Given the description of an element on the screen output the (x, y) to click on. 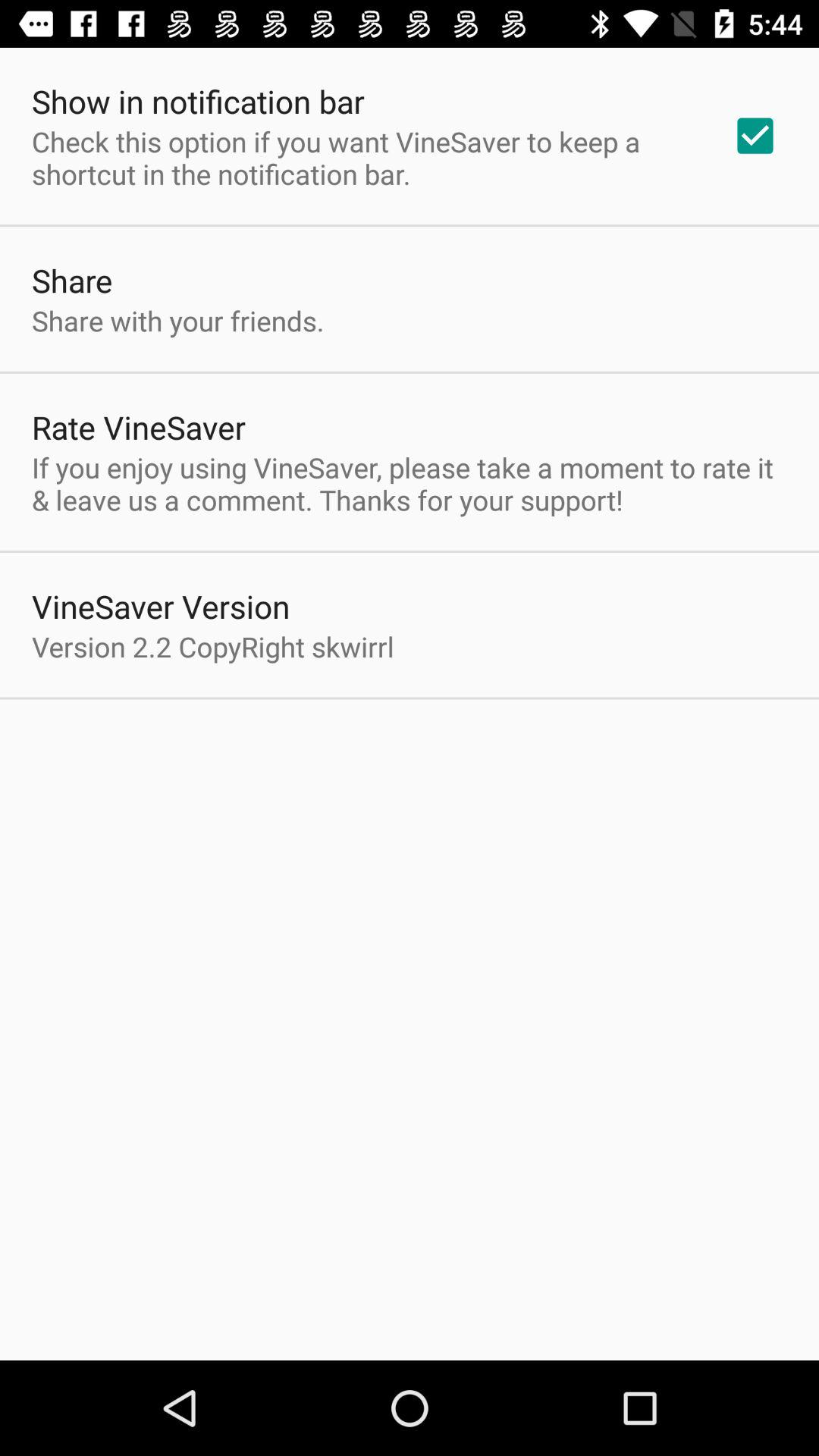
turn on icon below the show in notification app (361, 157)
